Given the description of an element on the screen output the (x, y) to click on. 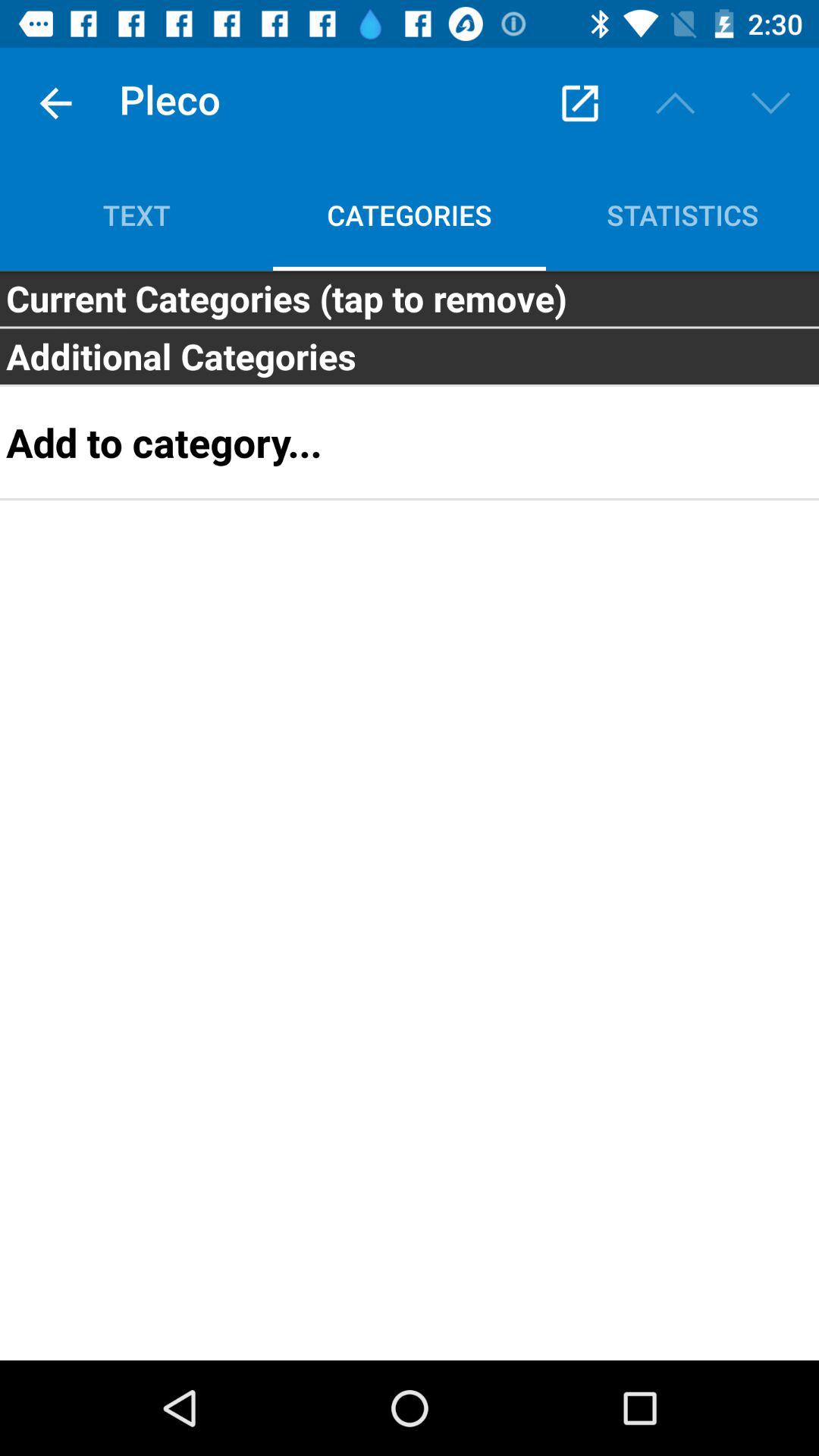
launch item next to pleco item (55, 103)
